Given the description of an element on the screen output the (x, y) to click on. 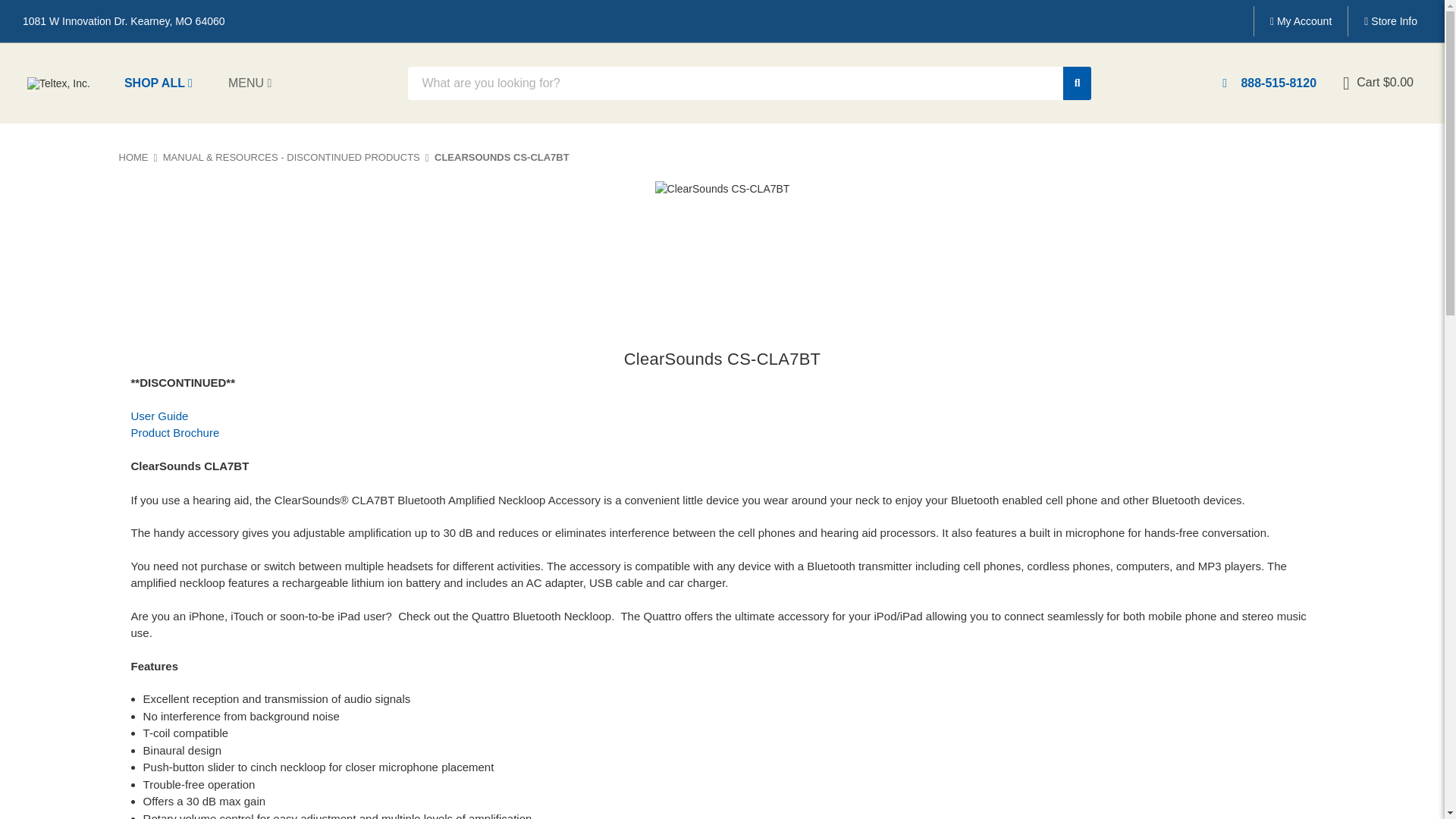
My Account (1300, 20)
Teltex, Inc. (58, 83)
Store Info (1390, 20)
ClearSounds CS-CLA7BT (722, 252)
